Given the description of an element on the screen output the (x, y) to click on. 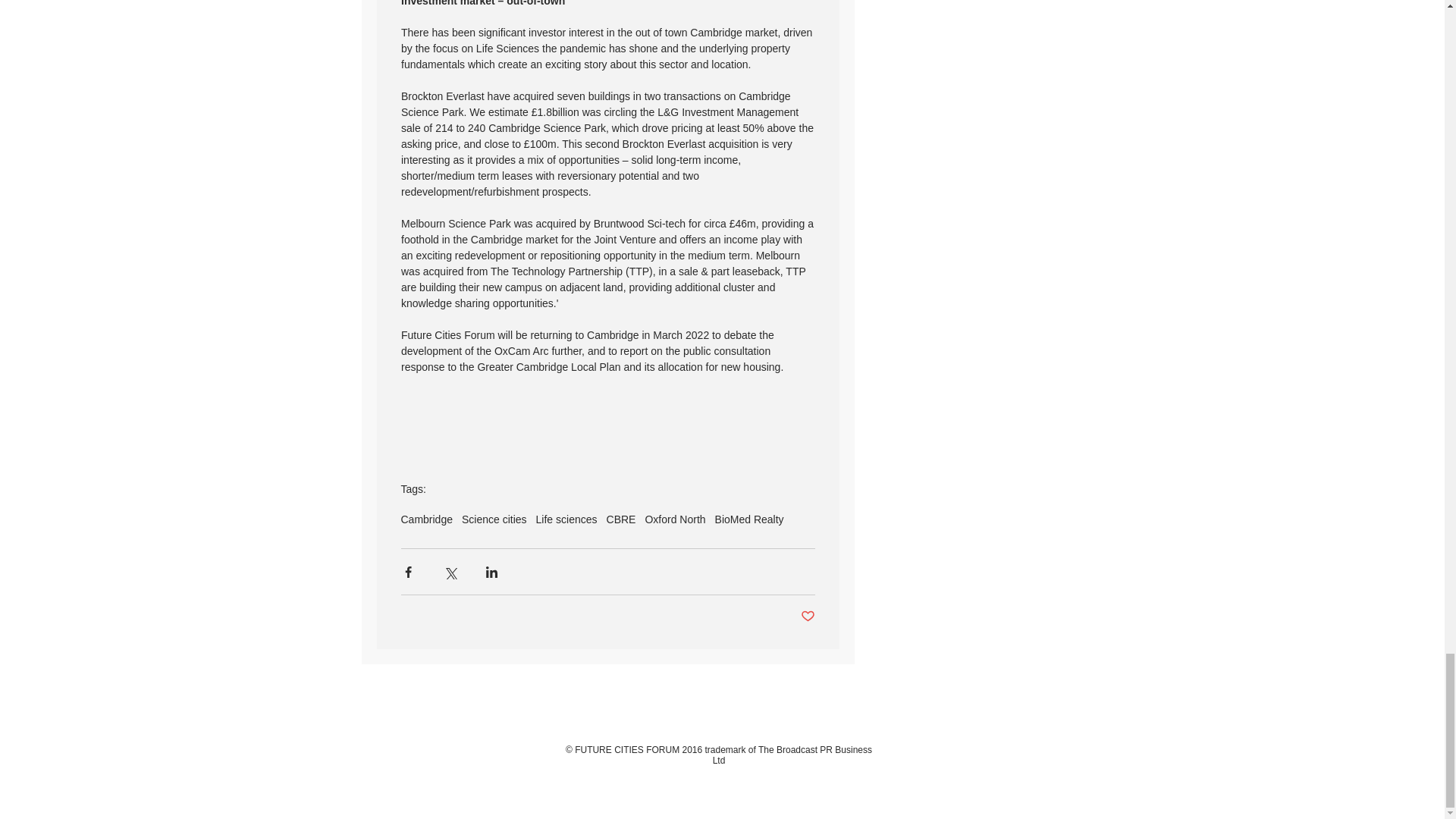
Science cities (494, 519)
BioMed Realty (749, 519)
Cambridge (425, 519)
CBRE (621, 519)
Post not marked as liked (807, 616)
Oxford North (674, 519)
Life sciences (565, 519)
